Given the description of an element on the screen output the (x, y) to click on. 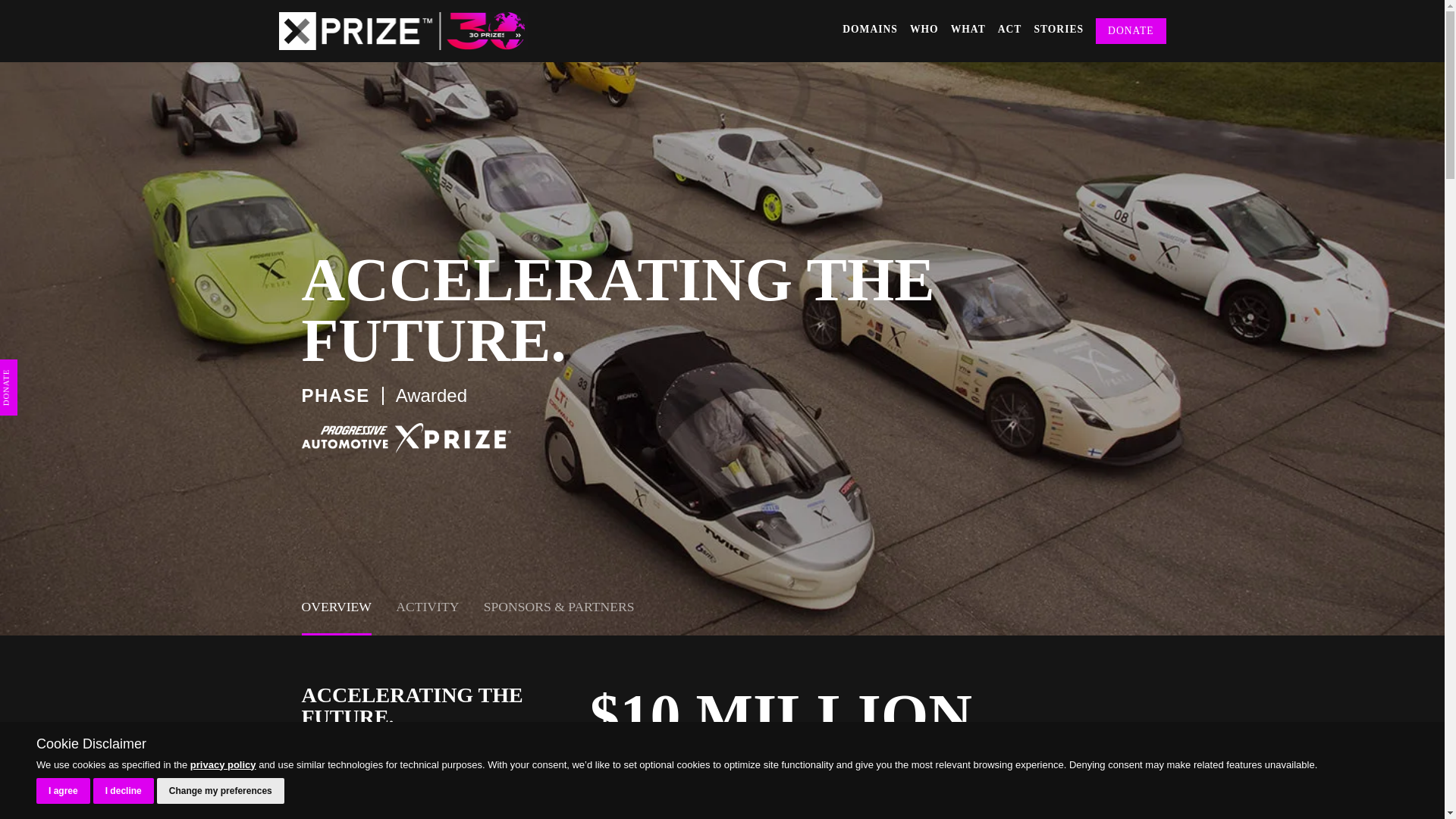
Change my preferences (220, 790)
XPRIZE Home (403, 30)
I decline (123, 790)
I agree (63, 790)
DOMAINS (870, 30)
STORIES (1058, 30)
WHO (924, 30)
WHAT (967, 30)
privacy policy (223, 763)
ACT (1009, 30)
